Given the description of an element on the screen output the (x, y) to click on. 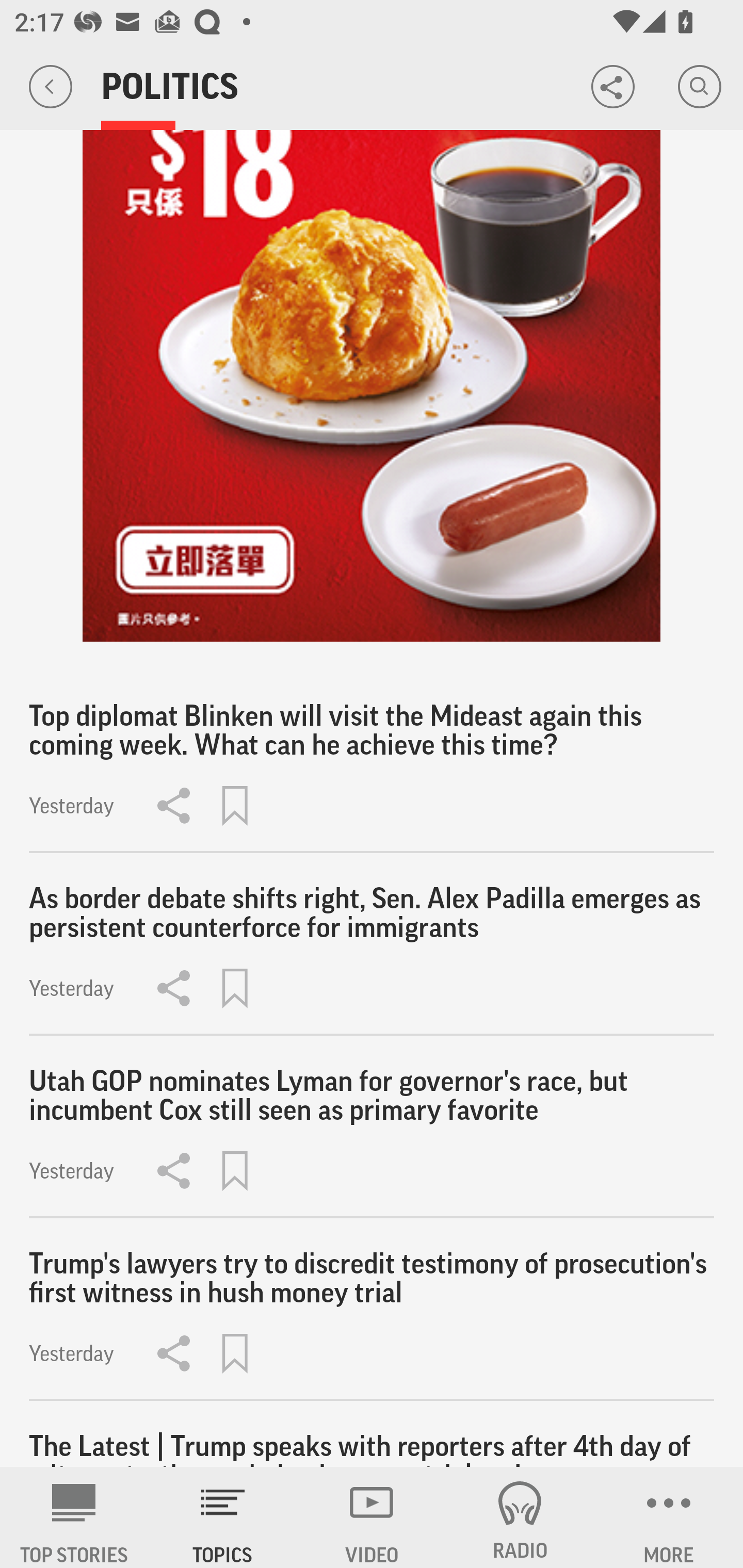
Advertisement (371, 386)
AP News TOP STORIES (74, 1517)
TOPICS (222, 1517)
VIDEO (371, 1517)
RADIO (519, 1517)
MORE (668, 1517)
